Given the description of an element on the screen output the (x, y) to click on. 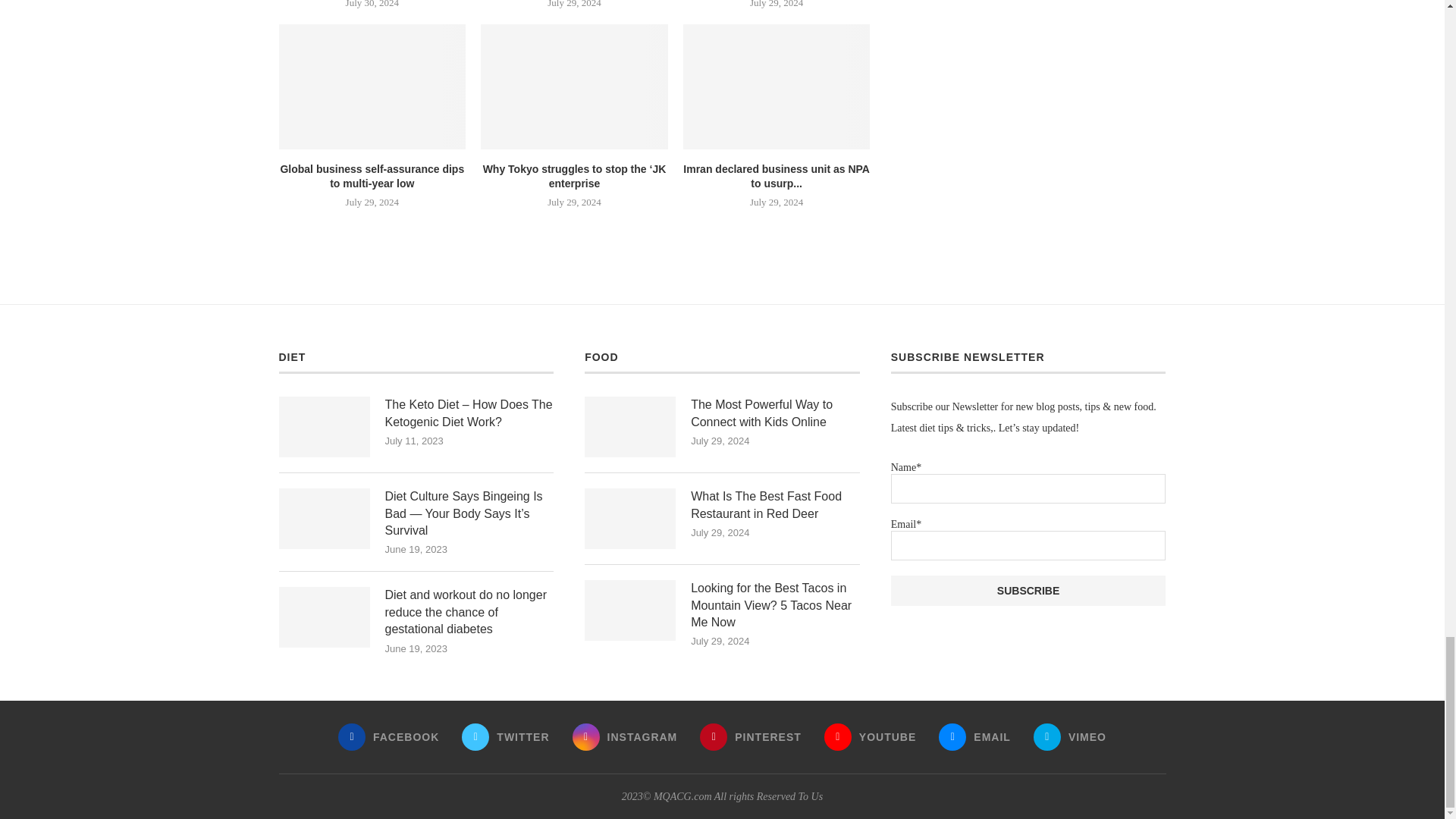
Global business self-assurance dips to multi-year low (372, 86)
Subscribe (1028, 590)
Imran declared business unit as NPA to usurp subsidy (776, 86)
